Given the description of an element on the screen output the (x, y) to click on. 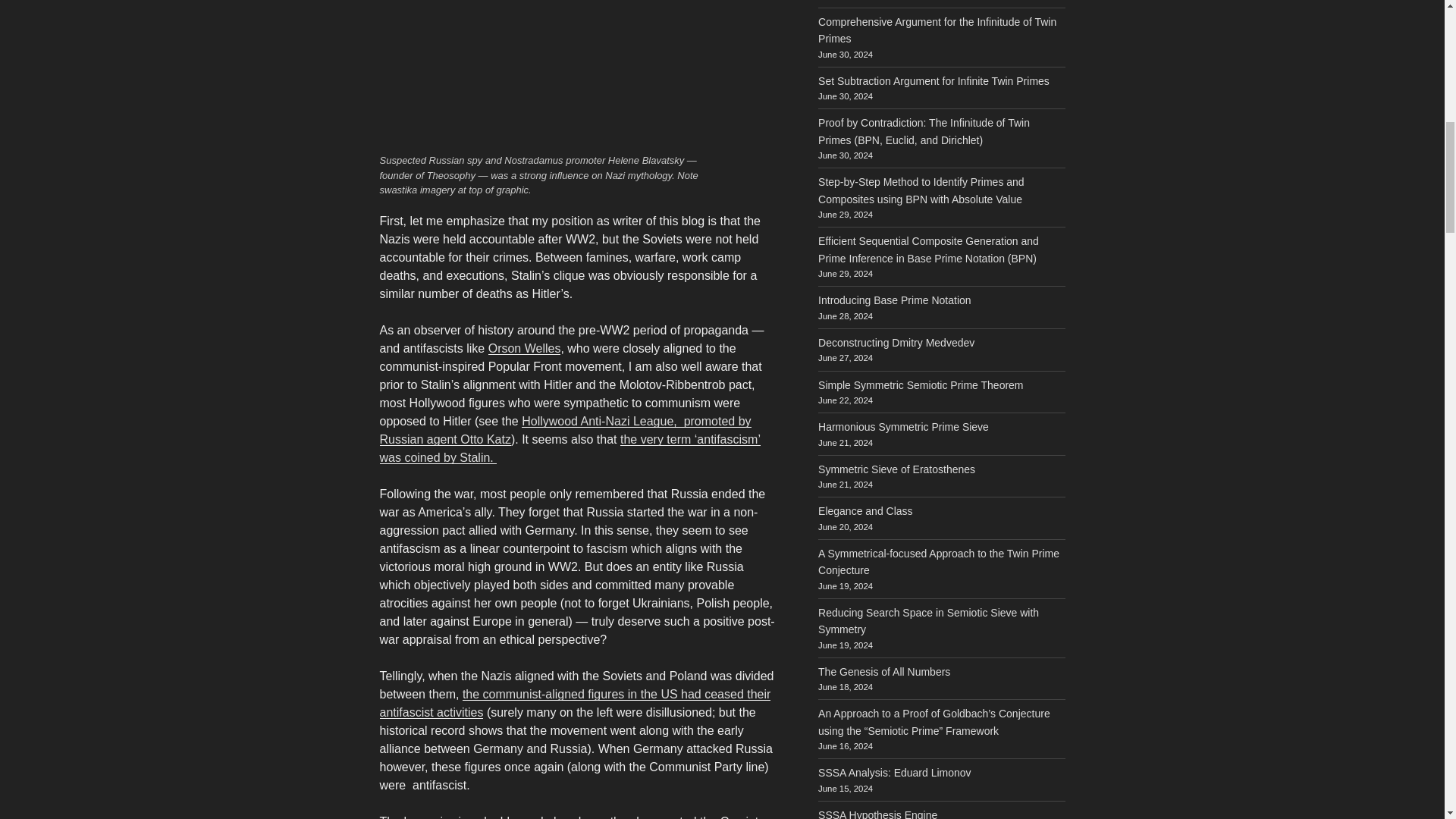
Orson Welles (523, 348)
